Given the description of an element on the screen output the (x, y) to click on. 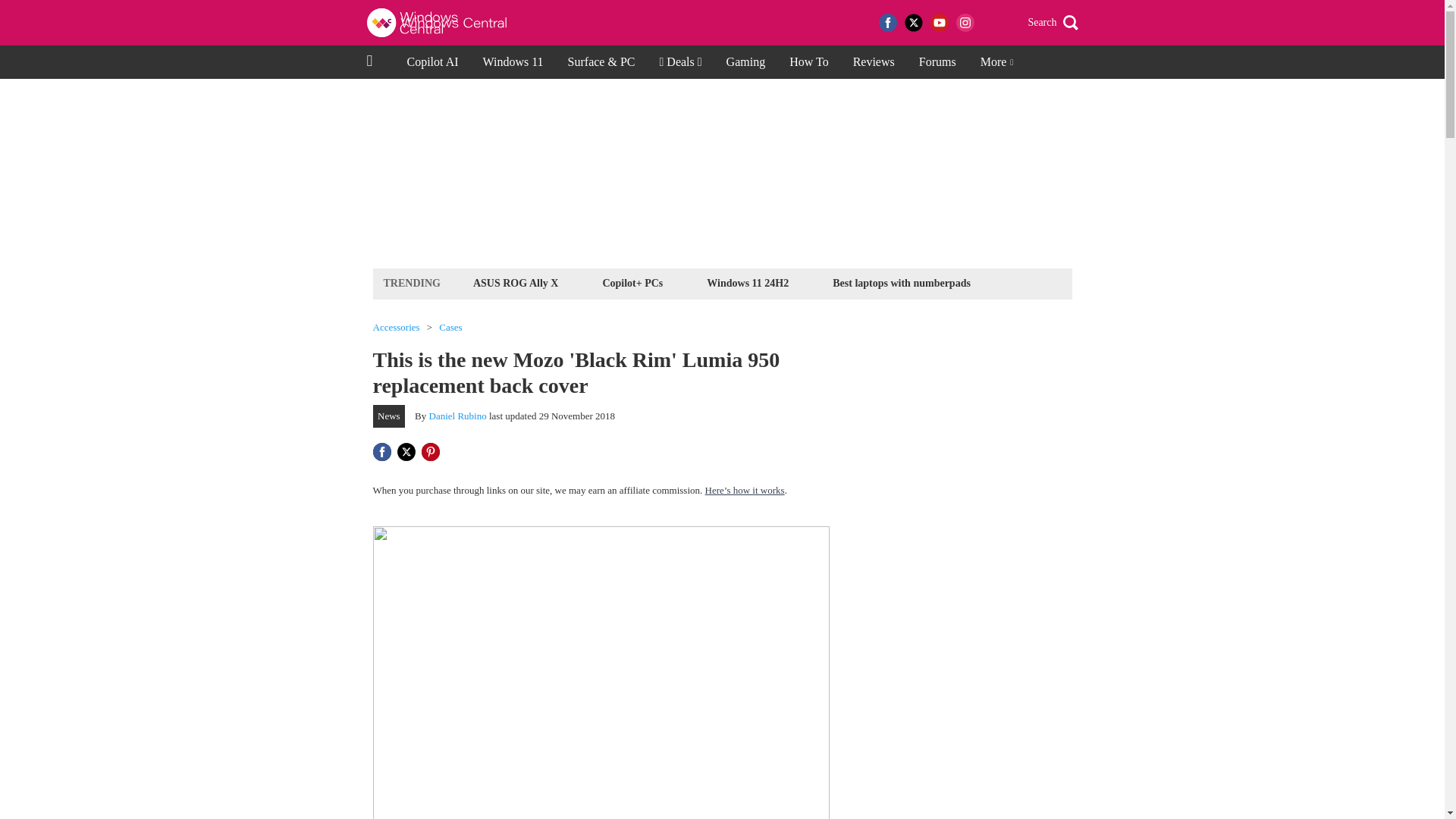
Reviews (874, 61)
ASUS ROG Ally X (515, 282)
RSS (990, 22)
Gaming (745, 61)
Daniel Rubino (457, 415)
Copilot AI (432, 61)
Accessories (396, 327)
How To (808, 61)
Windows 11 (513, 61)
Best laptops with numberpads (901, 282)
Windows 11 24H2 (747, 282)
News (389, 415)
Cases (450, 327)
Forums (937, 61)
